Given the description of an element on the screen output the (x, y) to click on. 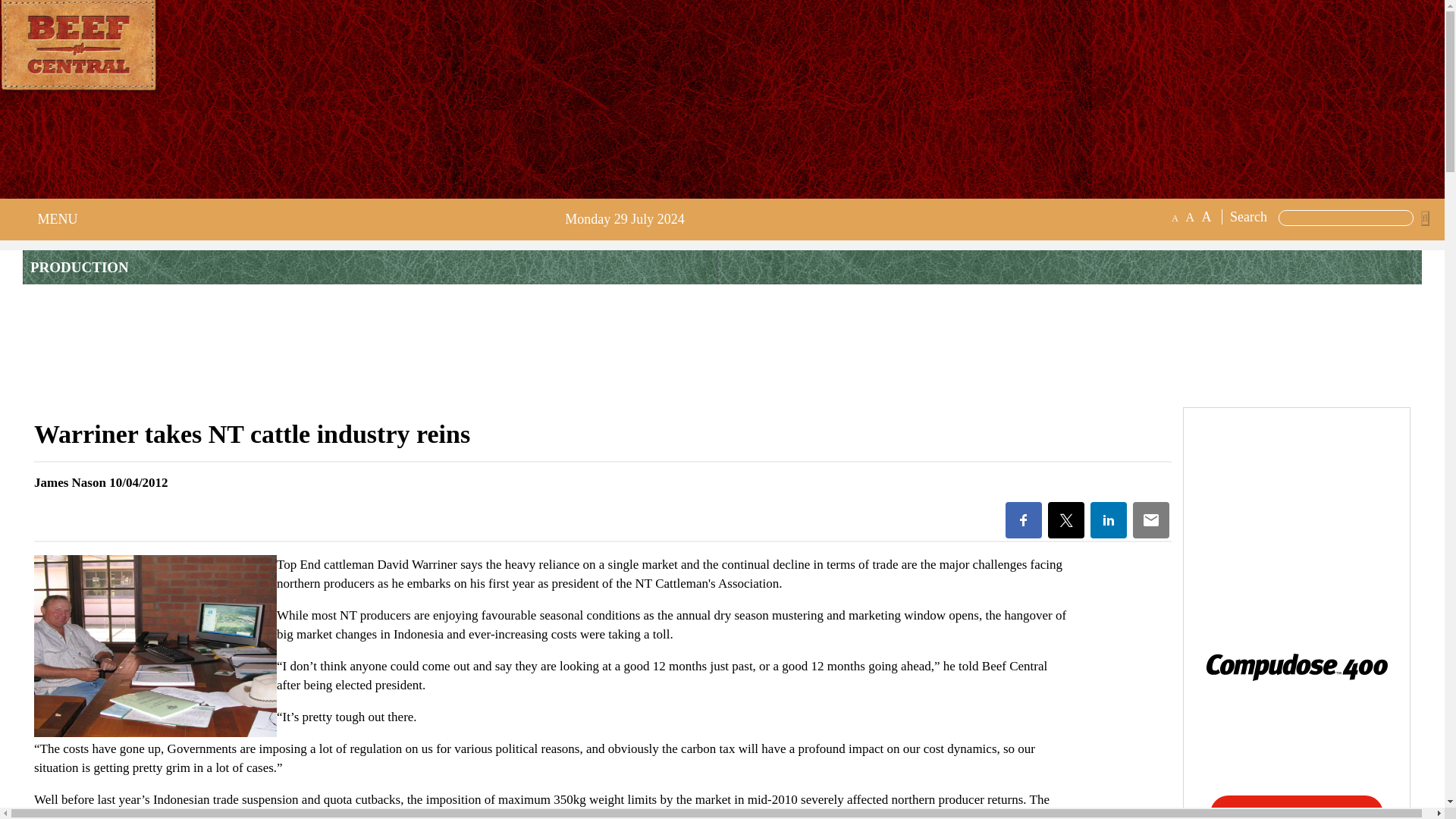
MENU (53, 219)
3rd party ad content (721, 350)
3rd party ad content (189, 149)
